Given the description of an element on the screen output the (x, y) to click on. 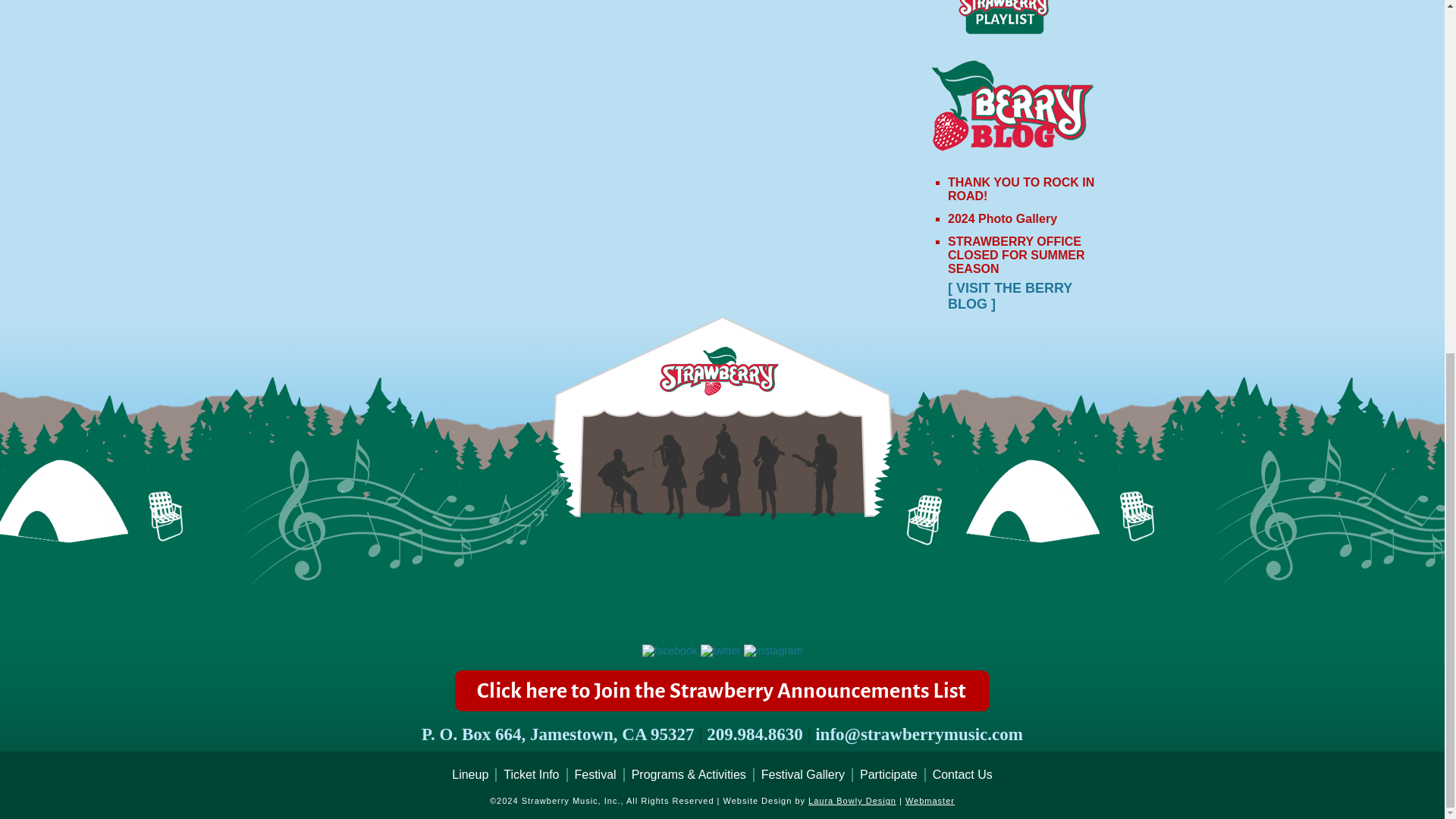
2024 Photo Gallery (1002, 218)
twitter (720, 650)
instagram (773, 650)
THANK YOU TO ROCK IN ROAD! (1020, 189)
facebook (669, 650)
twitter (720, 650)
instagram (772, 650)
facebook (669, 650)
STRAWBERRY OFFICE CLOSED FOR SUMMER SEASON (1015, 255)
